Given the description of an element on the screen output the (x, y) to click on. 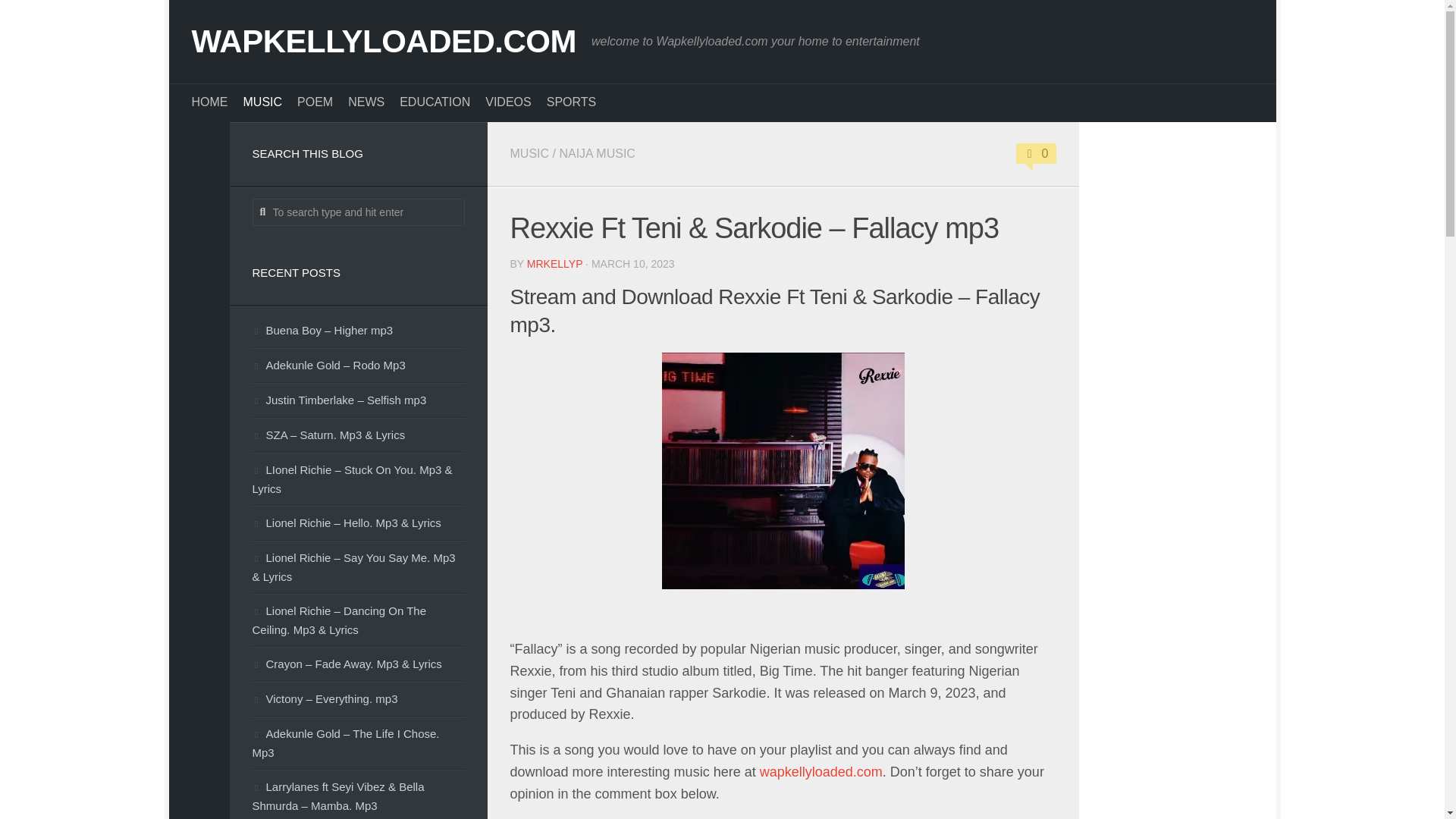
VIDEOS (507, 102)
NEWS (365, 102)
EDUCATION (434, 102)
MUSIC (262, 102)
SPORTS (571, 102)
To search type and hit enter (357, 212)
MRKELLYP (554, 263)
To search type and hit enter (357, 212)
MUSIC (528, 153)
Posts by Mrkellyp (554, 263)
WAPKELLYLOADED.COM (382, 41)
0 (1036, 153)
wapkellyloaded.com (821, 771)
HOME (208, 102)
POEM (315, 102)
